Given the description of an element on the screen output the (x, y) to click on. 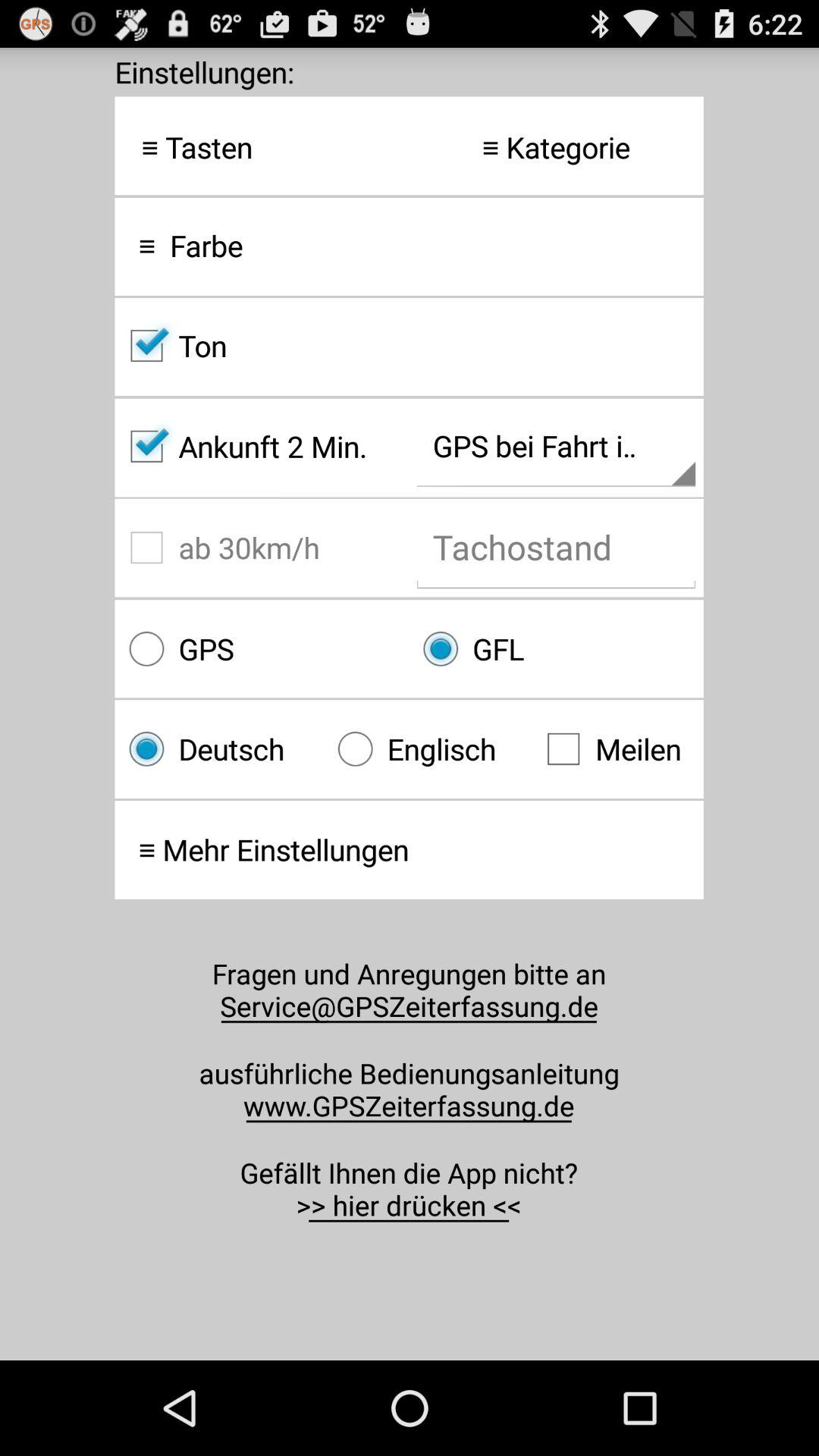
open radio button above the englisch (555, 648)
